Given the description of an element on the screen output the (x, y) to click on. 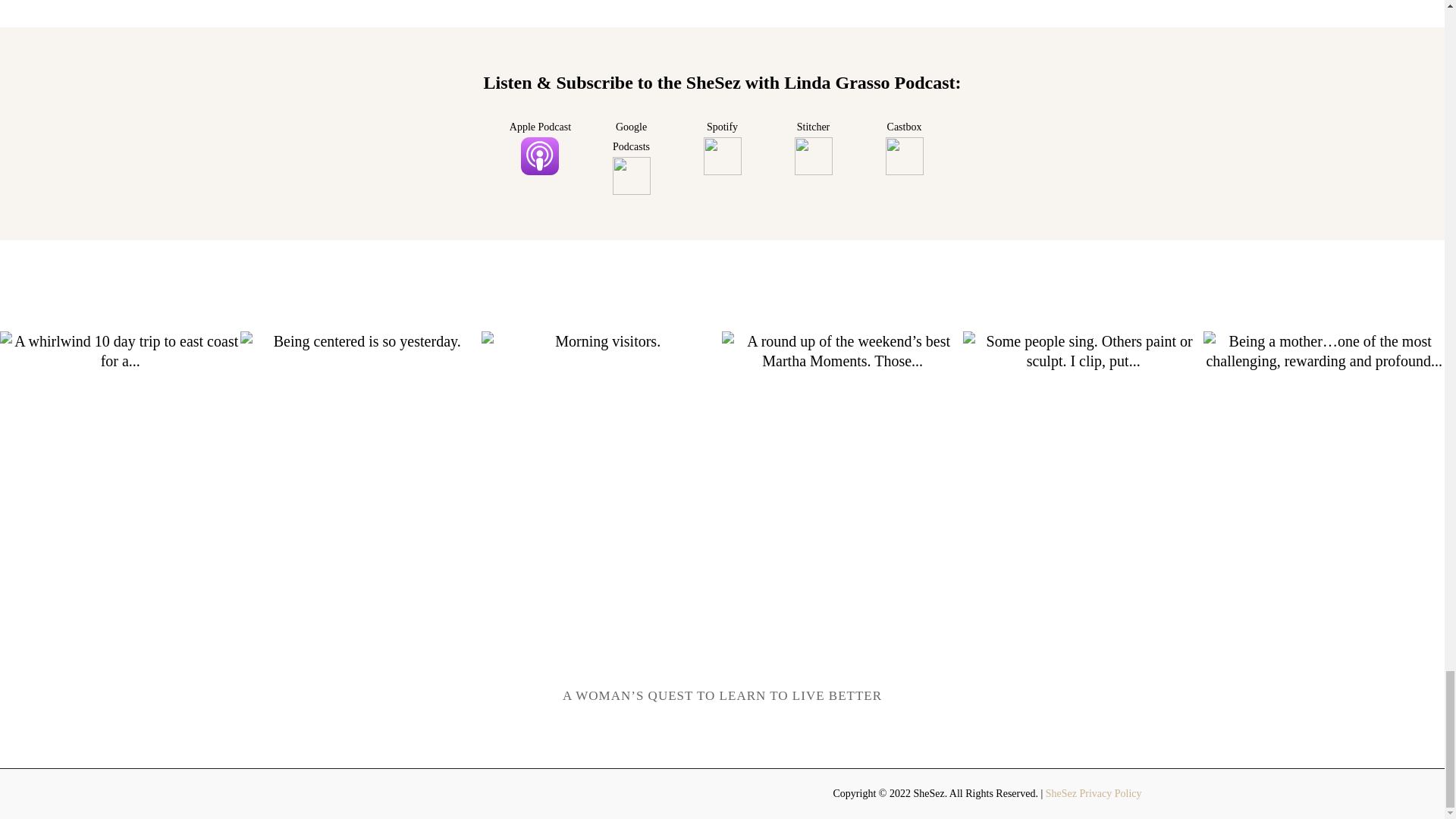
Being centered is so yesterday. (360, 451)
Some people sing. Others paint or sculpt. I clip, put... (1083, 451)
A whirlwind 10 day trip to east coast for a... (120, 451)
Morning visitors. (601, 451)
